Given the description of an element on the screen output the (x, y) to click on. 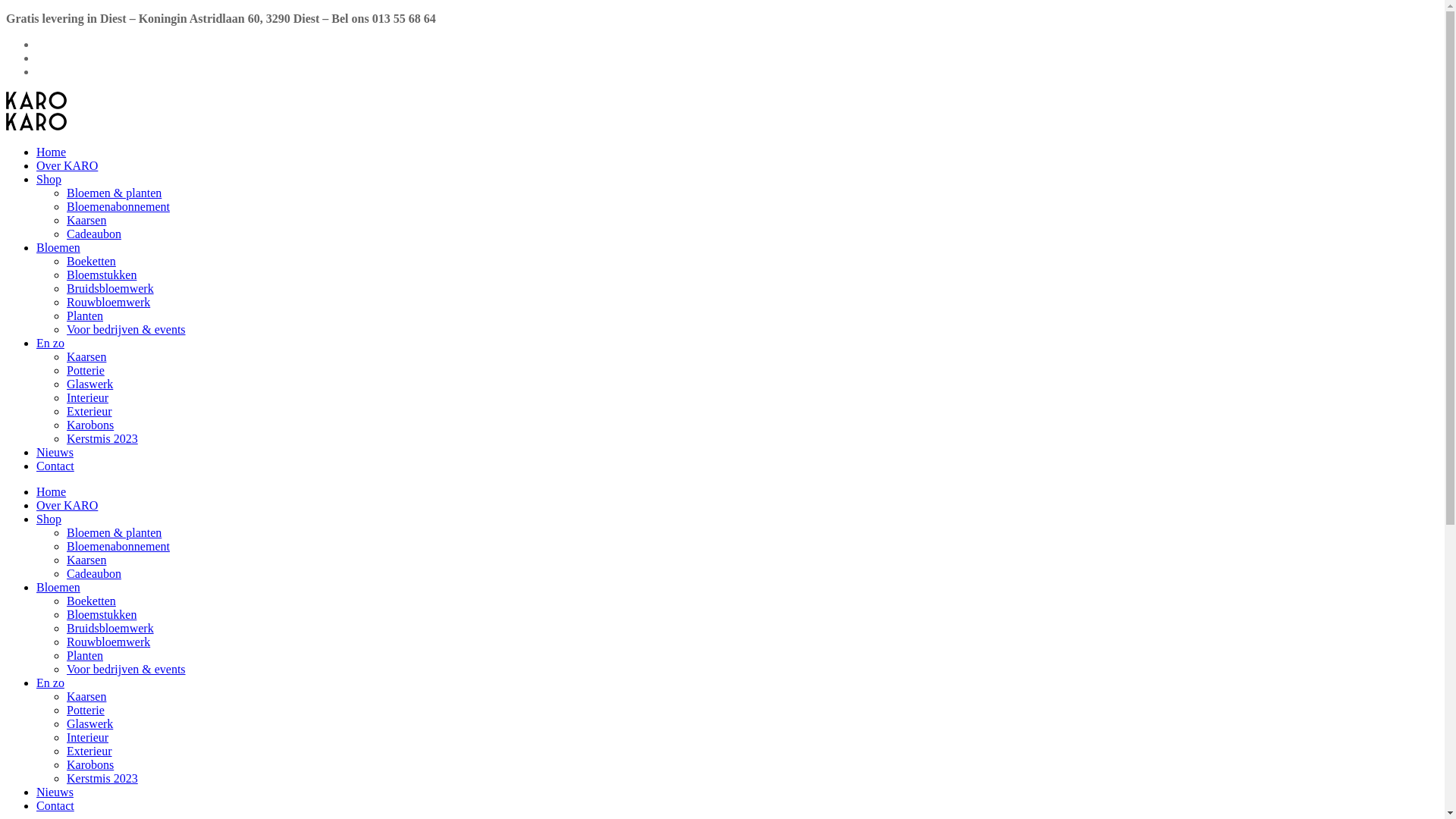
Over KARO Element type: text (66, 165)
Glaswerk Element type: text (89, 383)
Rouwbloemwerk Element type: text (108, 641)
Boeketten Element type: text (91, 260)
Potterie Element type: text (85, 709)
Bloemen & planten Element type: text (113, 532)
Bruidsbloemwerk Element type: text (109, 288)
Kerstmis 2023 Element type: text (102, 438)
Karobons Element type: text (89, 424)
Interieur Element type: text (87, 737)
Interieur Element type: text (87, 397)
Exterieur Element type: text (89, 750)
Home Element type: text (50, 151)
Nieuws Element type: text (54, 791)
Shop Element type: text (48, 518)
Voor bedrijven & events Element type: text (125, 329)
Planten Element type: text (84, 655)
Kaarsen Element type: text (86, 356)
Kaarsen Element type: text (86, 219)
Planten Element type: text (84, 315)
Bruidsbloemwerk Element type: text (109, 627)
Bloemenabonnement Element type: text (117, 545)
Contact Element type: text (55, 805)
Kerstmis 2023 Element type: text (102, 777)
Nieuws Element type: text (54, 451)
Cadeaubon Element type: text (93, 233)
Over KARO Element type: text (66, 504)
Rouwbloemwerk Element type: text (108, 301)
Bloemstukken Element type: text (101, 274)
Glaswerk Element type: text (89, 723)
Bloemen Element type: text (58, 247)
Contact Element type: text (55, 465)
Kaarsen Element type: text (86, 559)
Boeketten Element type: text (91, 600)
Bloemstukken Element type: text (101, 614)
Potterie Element type: text (85, 370)
Kaarsen Element type: text (86, 696)
Voor bedrijven & events Element type: text (125, 668)
Exterieur Element type: text (89, 410)
Bloemen Element type: text (58, 586)
Bloemen & planten Element type: text (113, 192)
En zo Element type: text (50, 682)
Karobons Element type: text (89, 764)
Cadeaubon Element type: text (93, 573)
Shop Element type: text (48, 178)
Home Element type: text (50, 491)
Bloemenabonnement Element type: text (117, 206)
En zo Element type: text (50, 342)
